Given the description of an element on the screen output the (x, y) to click on. 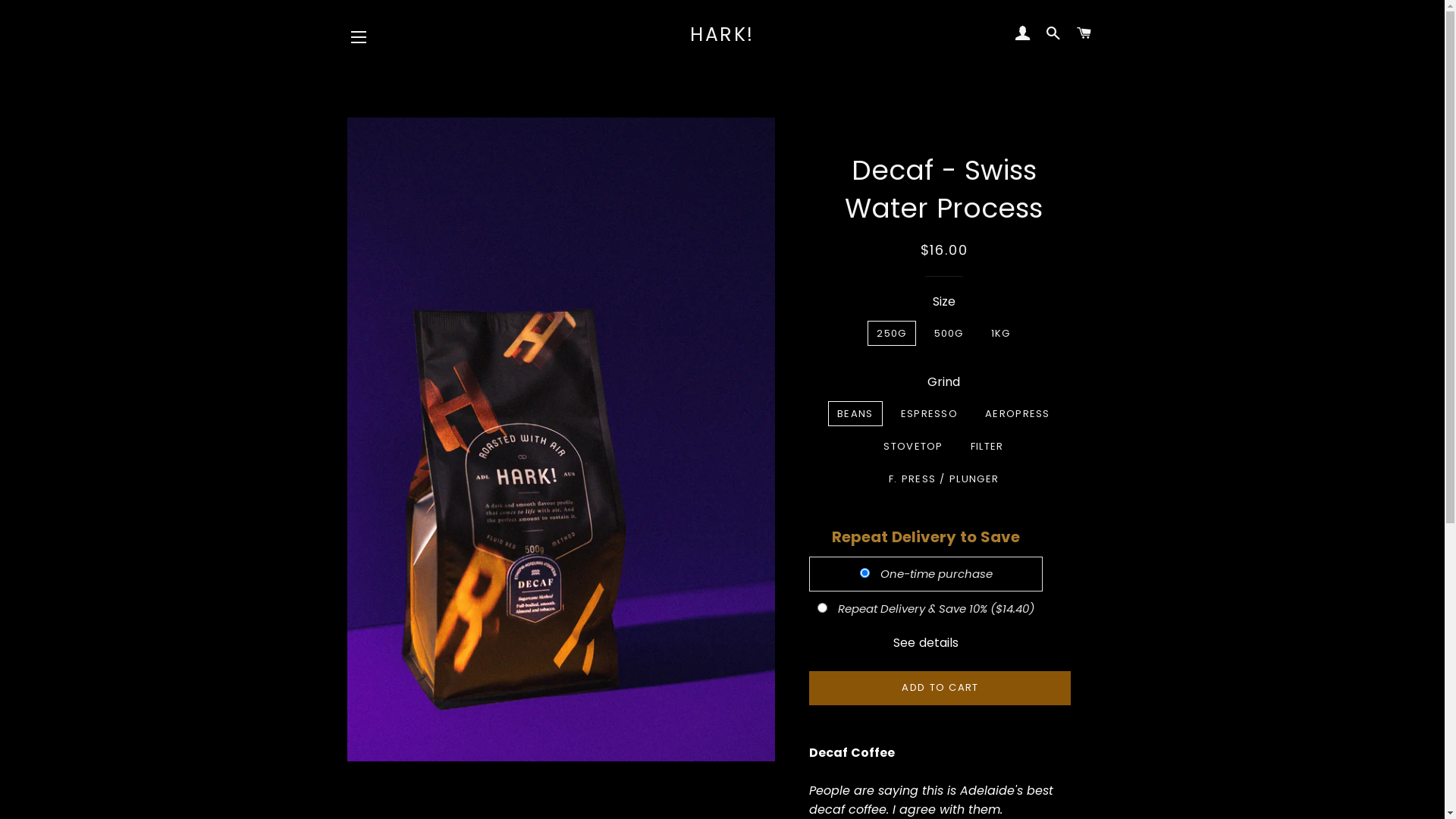
LOG IN Element type: text (1022, 33)
HARK! Element type: text (721, 34)
SITE NAVIGATION Element type: text (358, 37)
CART Element type: text (1083, 33)
See details Element type: text (925, 642)
SEARCH Element type: text (1053, 33)
ADD TO CART Element type: text (939, 687)
